Given the description of an element on the screen output the (x, y) to click on. 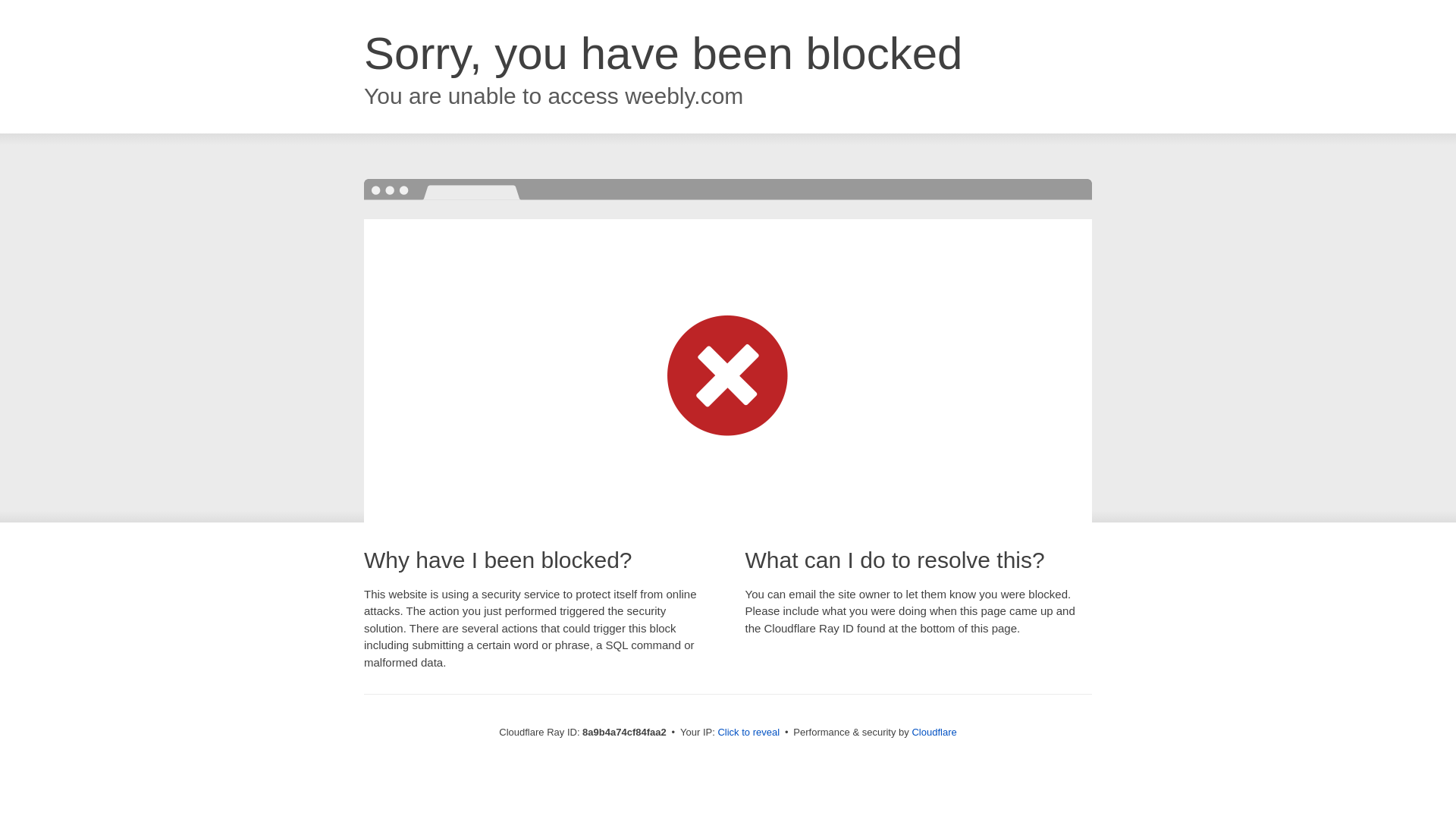
Click to reveal (747, 732)
Cloudflare (933, 731)
